Given the description of an element on the screen output the (x, y) to click on. 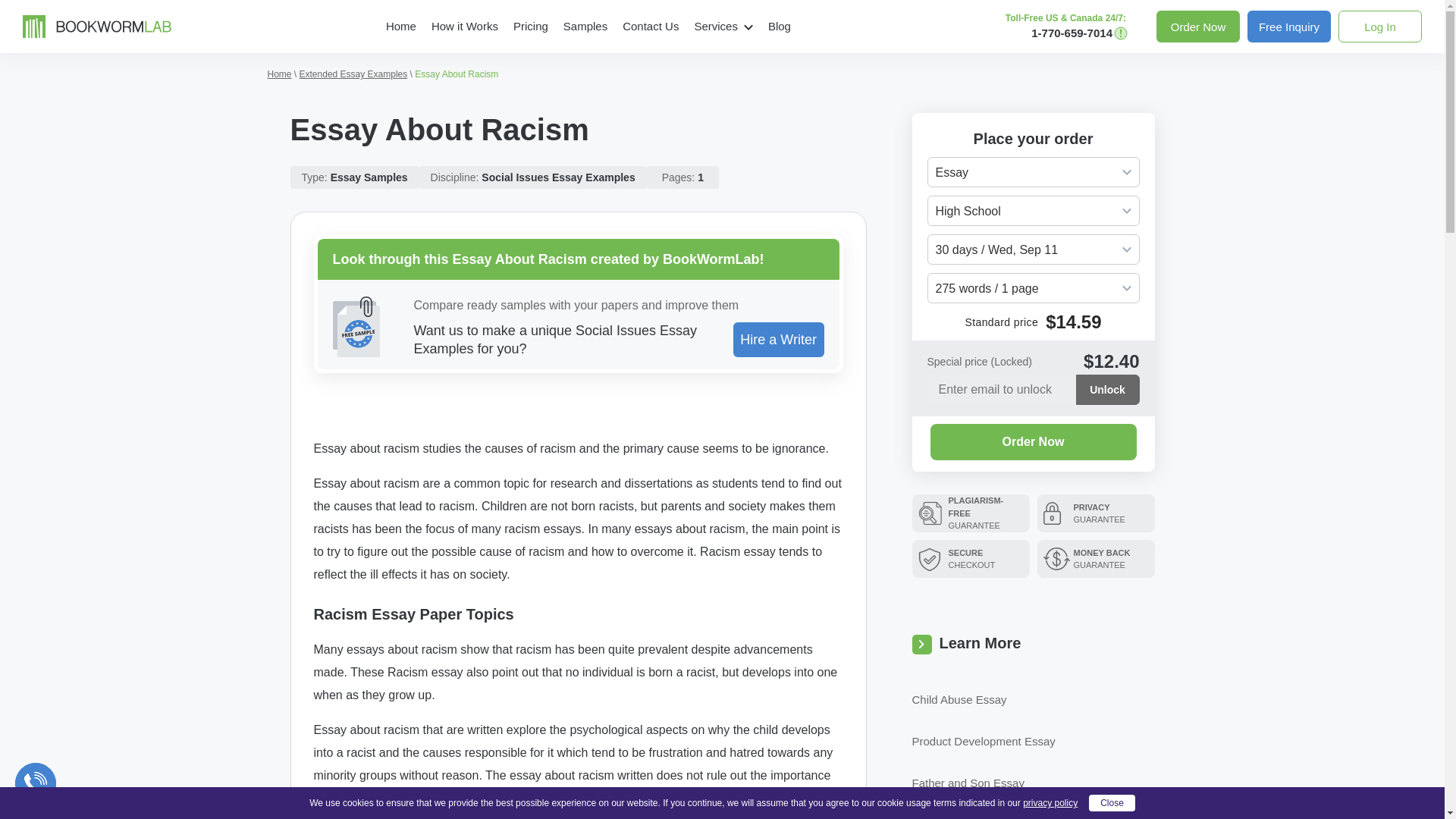
Samples (585, 26)
Pricing (530, 26)
Home (400, 26)
Blog (778, 26)
Order Now (1198, 26)
Home (400, 26)
How it Works (464, 26)
How it Works (464, 26)
Contact Us (649, 26)
Pricing (530, 26)
